Given the description of an element on the screen output the (x, y) to click on. 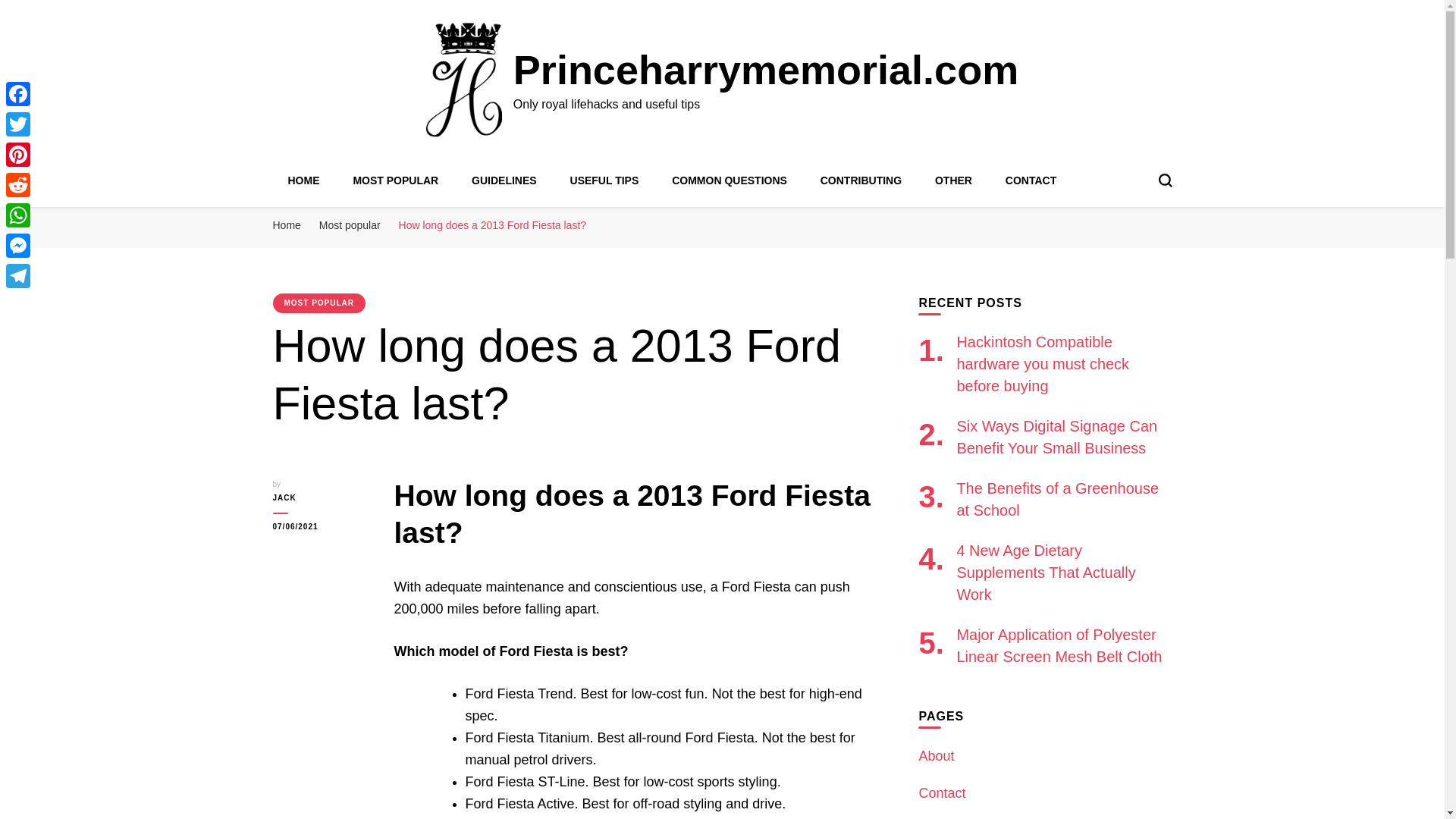
CONTRIBUTING (861, 180)
Messenger (17, 245)
GUIDELINES (504, 180)
JACK (322, 498)
Telegram (17, 276)
MOST POPULAR (319, 302)
USEFUL TIPS (604, 180)
WhatsApp (17, 214)
Most popular (349, 224)
CONTACT (1031, 180)
